Given the description of an element on the screen output the (x, y) to click on. 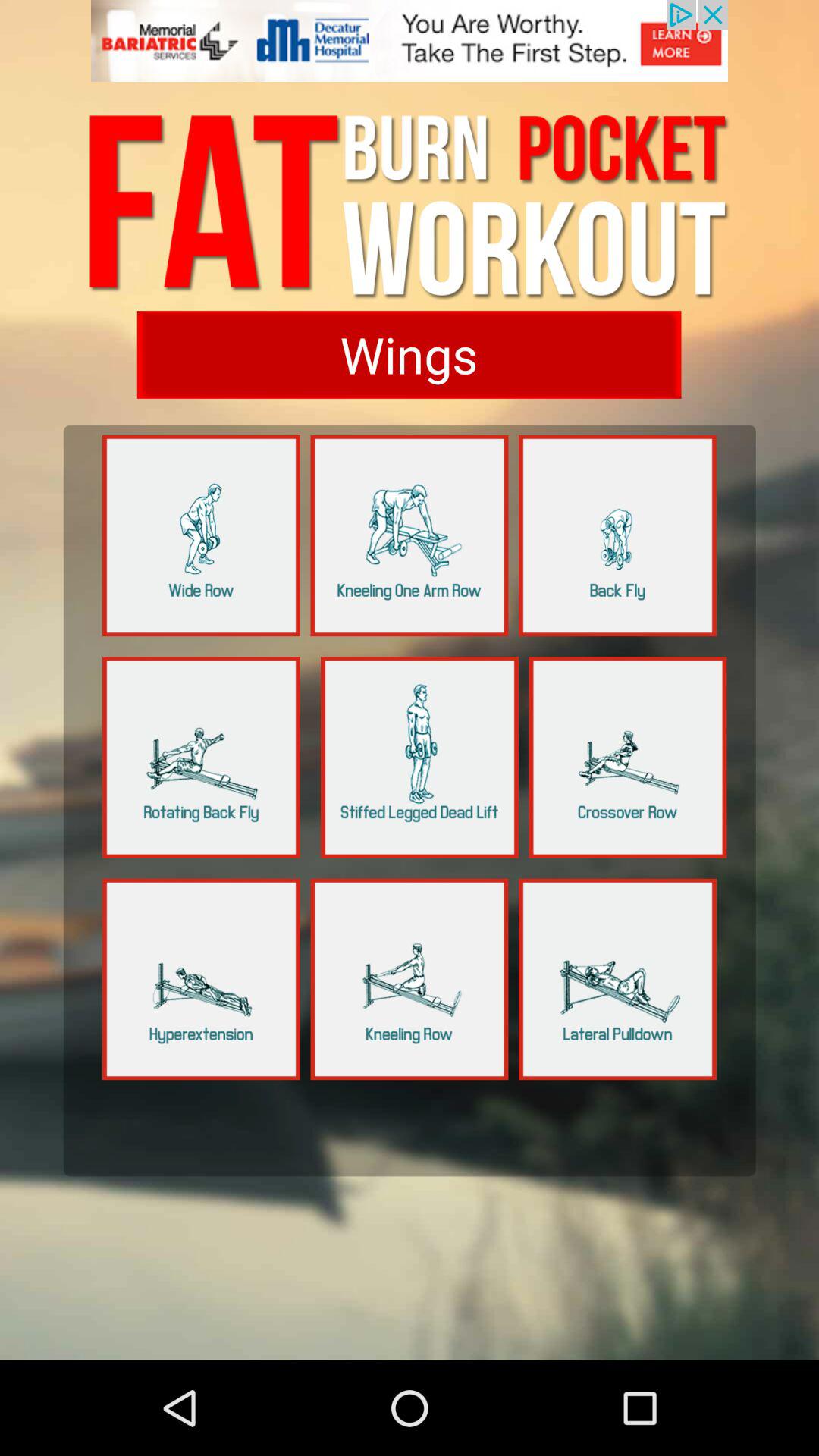
open menu (201, 979)
